Given the description of an element on the screen output the (x, y) to click on. 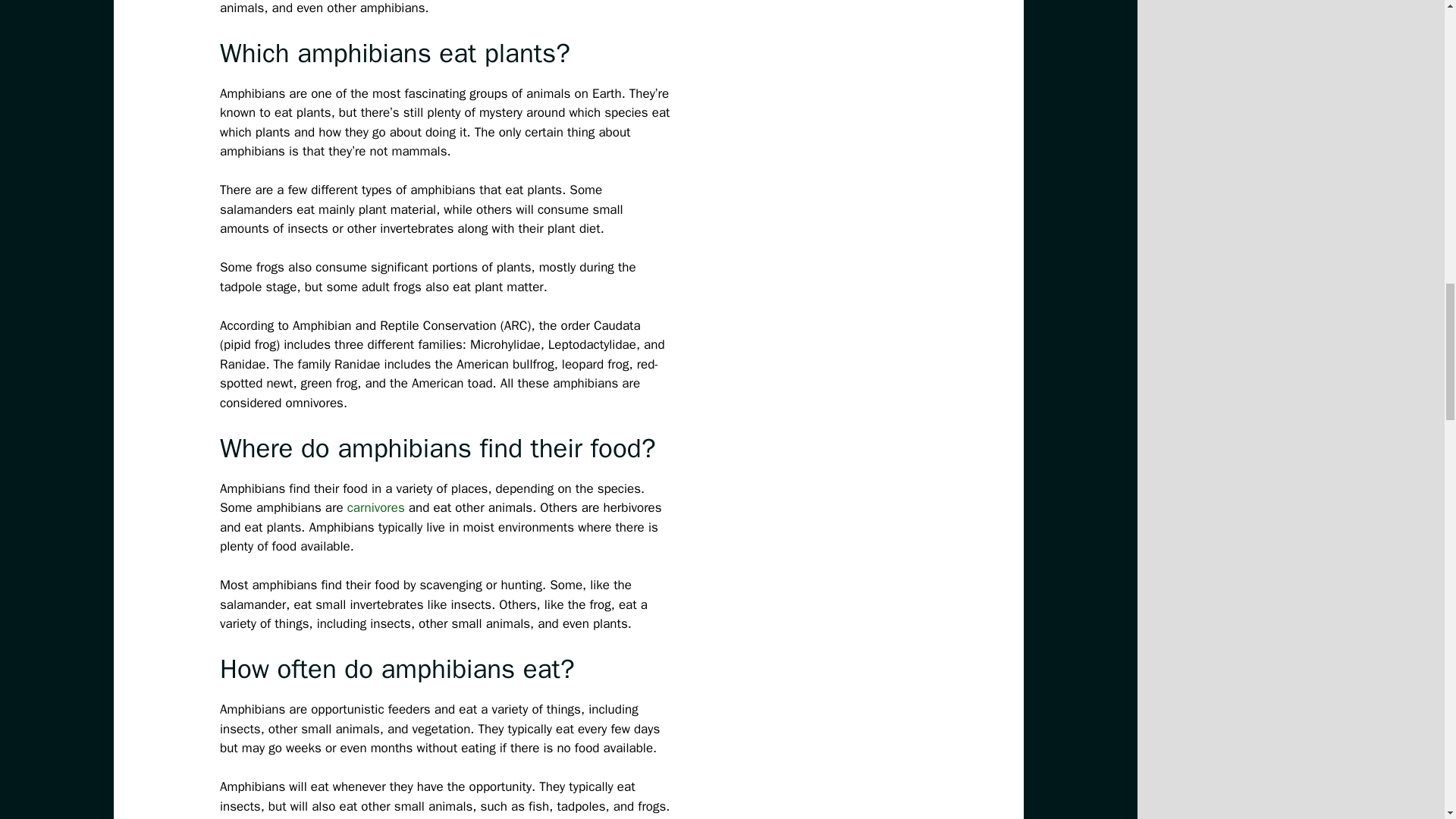
carnivores (375, 507)
